Given the description of an element on the screen output the (x, y) to click on. 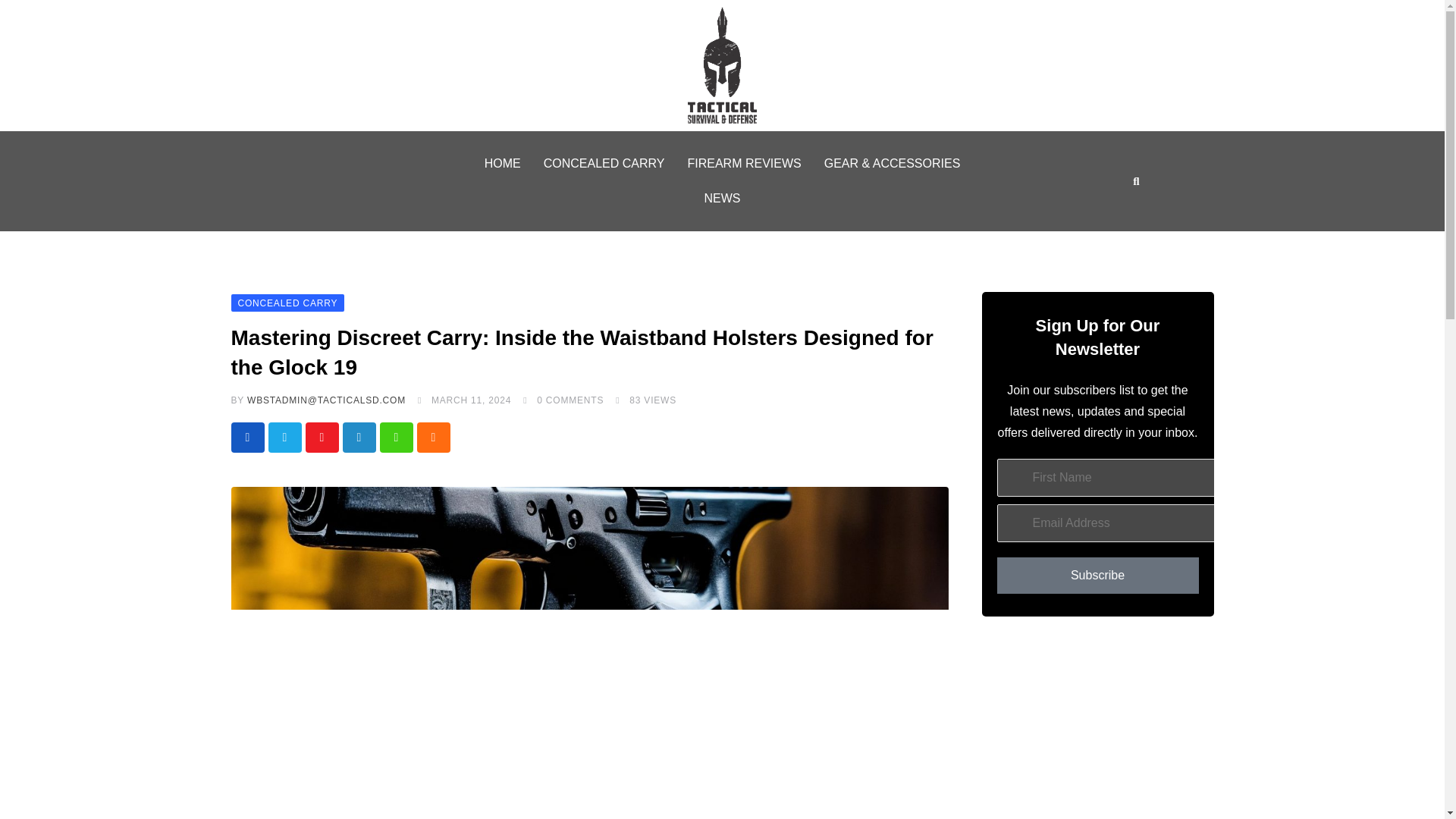
FIREARM REVIEWS (743, 163)
CONCEALED CARRY (604, 163)
NEWS (722, 198)
Subscribe (1096, 575)
HOME (502, 163)
CONCEALED CARRY (286, 301)
Subscribe (1096, 575)
